Given the description of an element on the screen output the (x, y) to click on. 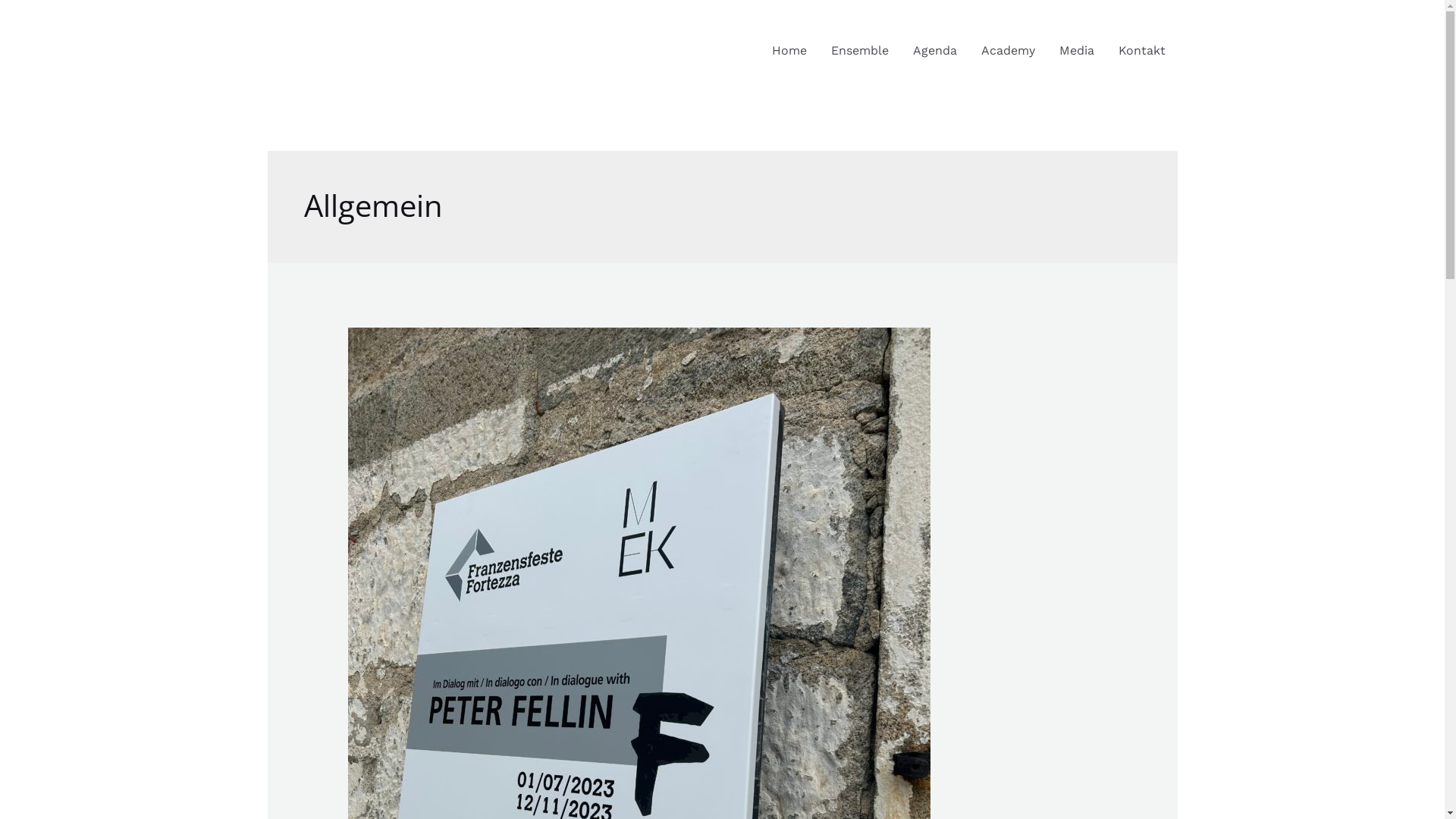
Media Element type: text (1075, 50)
Kontakt Element type: text (1140, 50)
Agenda Element type: text (934, 50)
Home Element type: text (789, 50)
Academy Element type: text (1008, 50)
Ensemble Element type: text (859, 50)
